Given the description of an element on the screen output the (x, y) to click on. 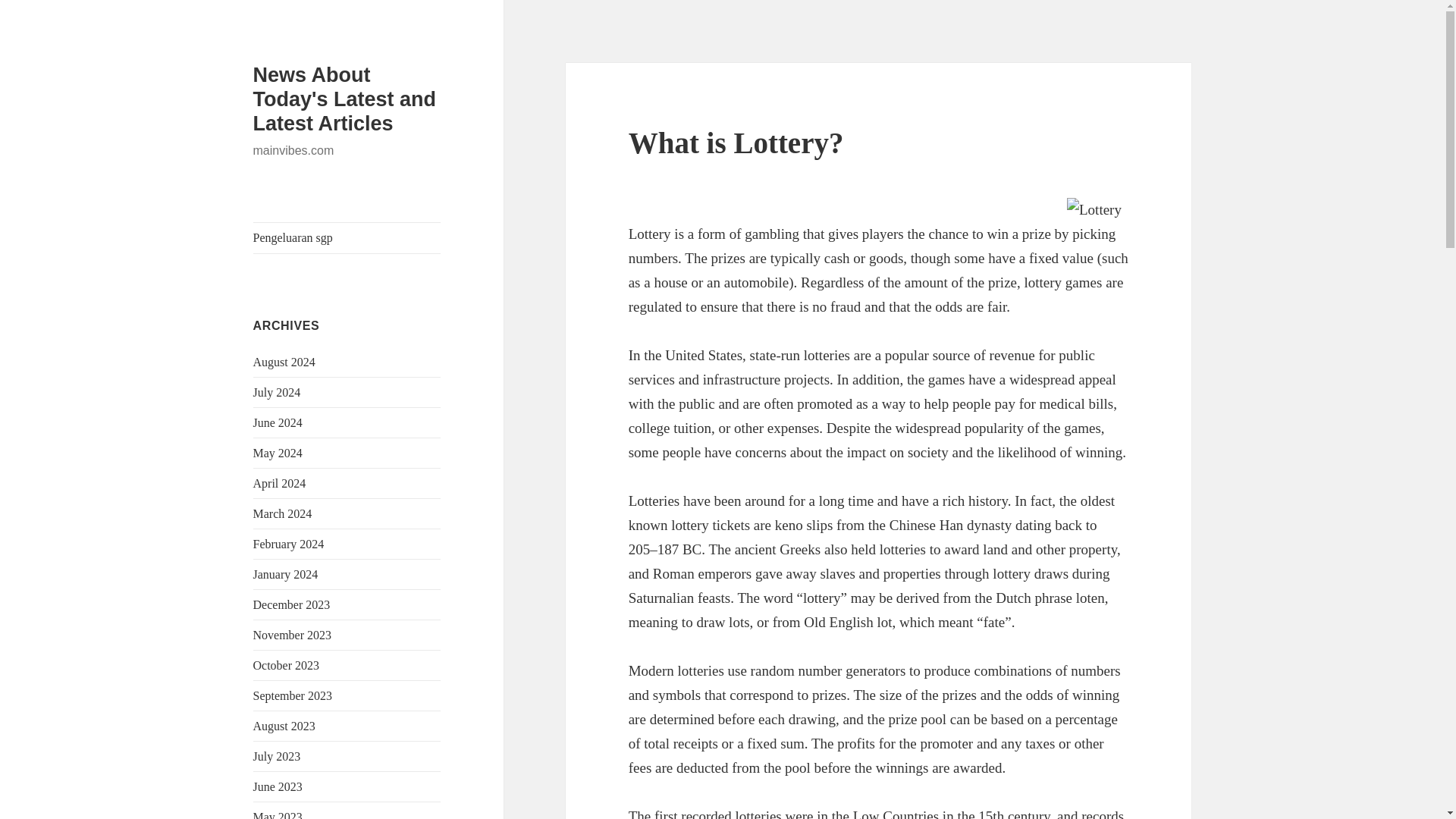
News About Today's Latest and Latest Articles (344, 99)
July 2023 (277, 756)
November 2023 (292, 634)
August 2024 (284, 361)
June 2023 (277, 786)
October 2023 (286, 665)
Pengeluaran sgp (347, 237)
September 2023 (292, 695)
May 2023 (277, 814)
July 2024 (277, 391)
